Given the description of an element on the screen output the (x, y) to click on. 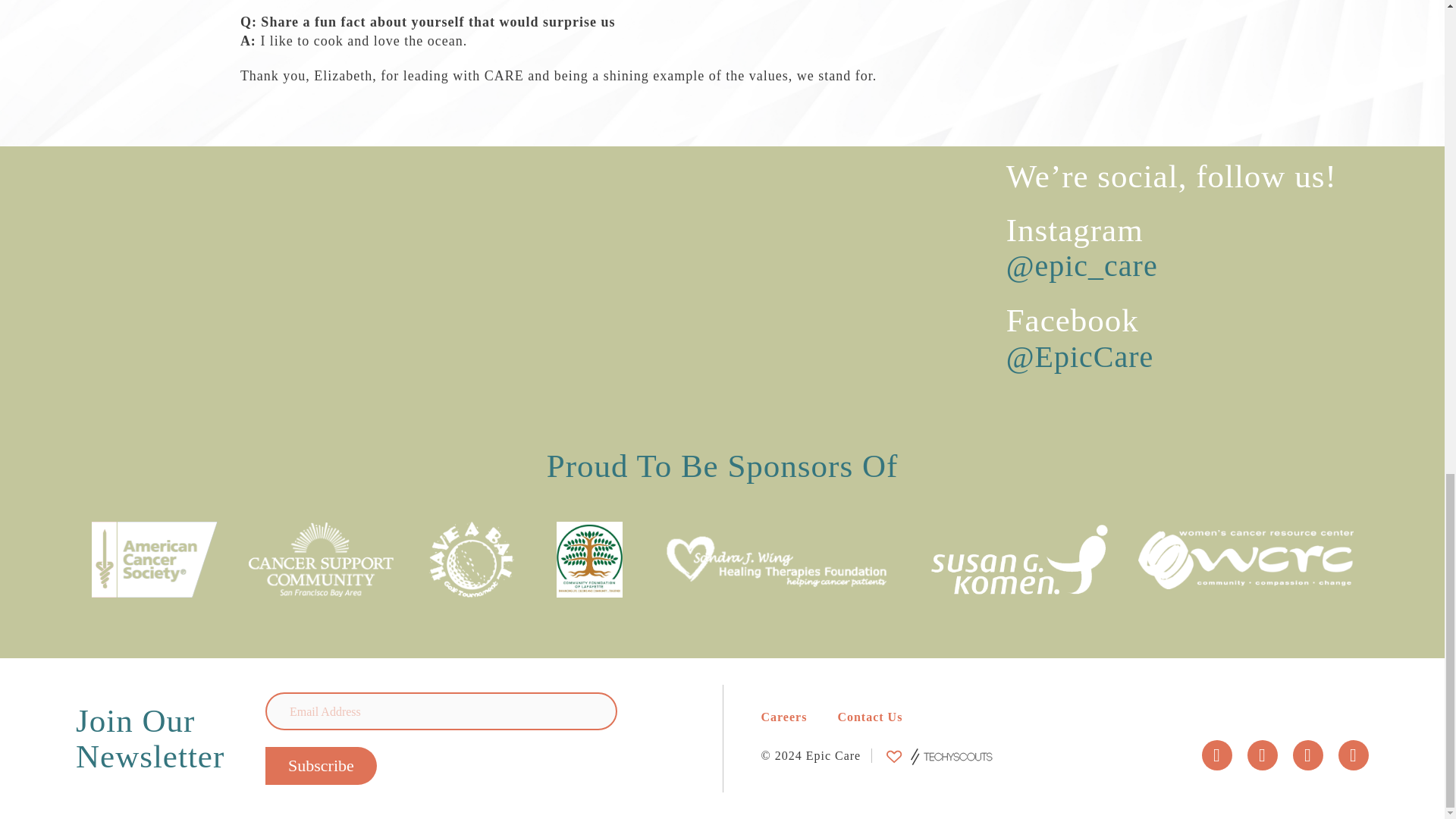
Subscribe (320, 765)
Made with love by TechyScouts (939, 756)
